Given the description of an element on the screen output the (x, y) to click on. 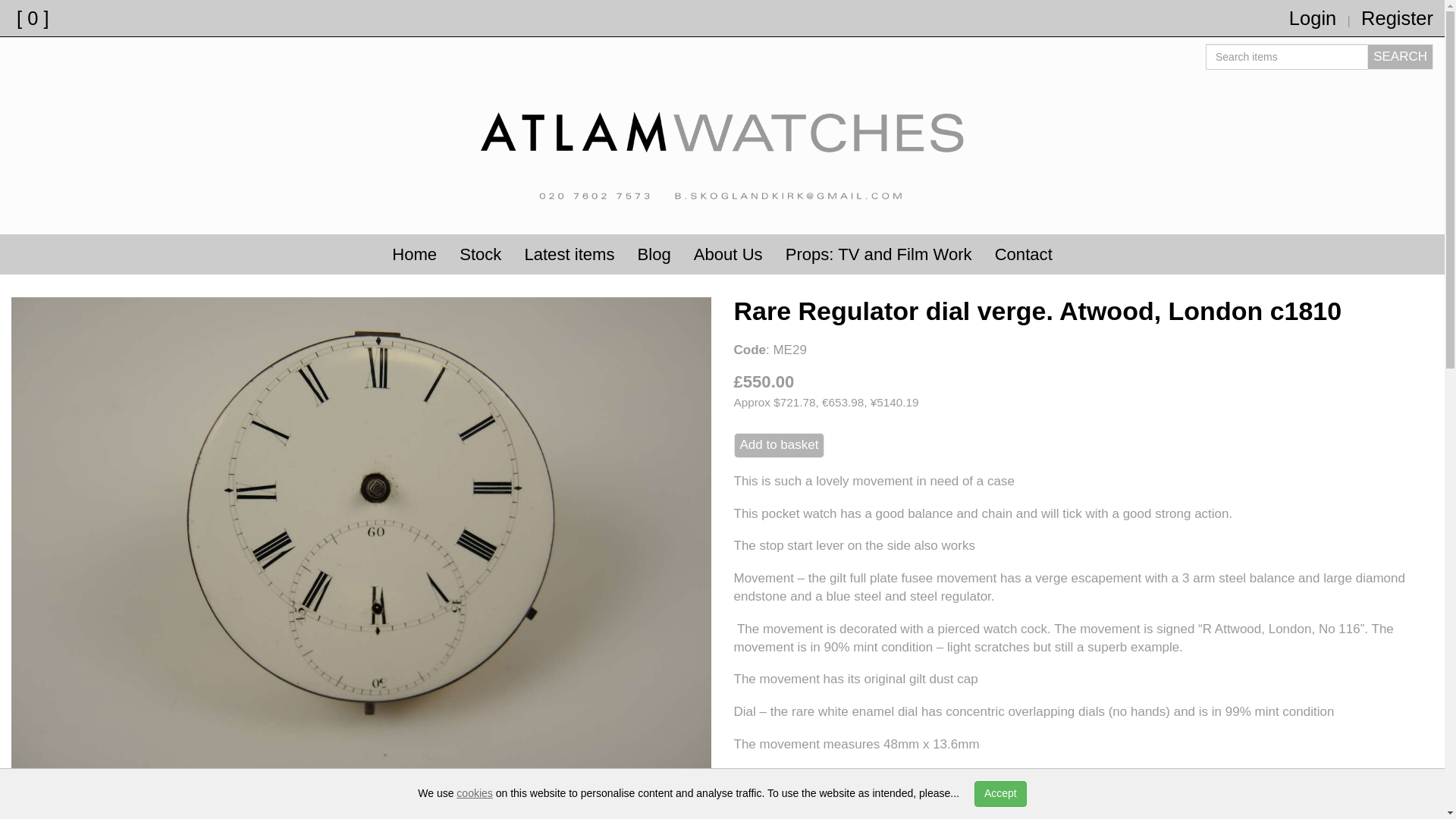
Atlam Watches (722, 146)
Props: TV and Film Work (879, 254)
Login (1312, 17)
Register (1396, 17)
English (1297, 801)
Blog (654, 254)
Enquire (758, 816)
Stock (480, 254)
Close (1414, 799)
Home (414, 254)
